Given the description of an element on the screen output the (x, y) to click on. 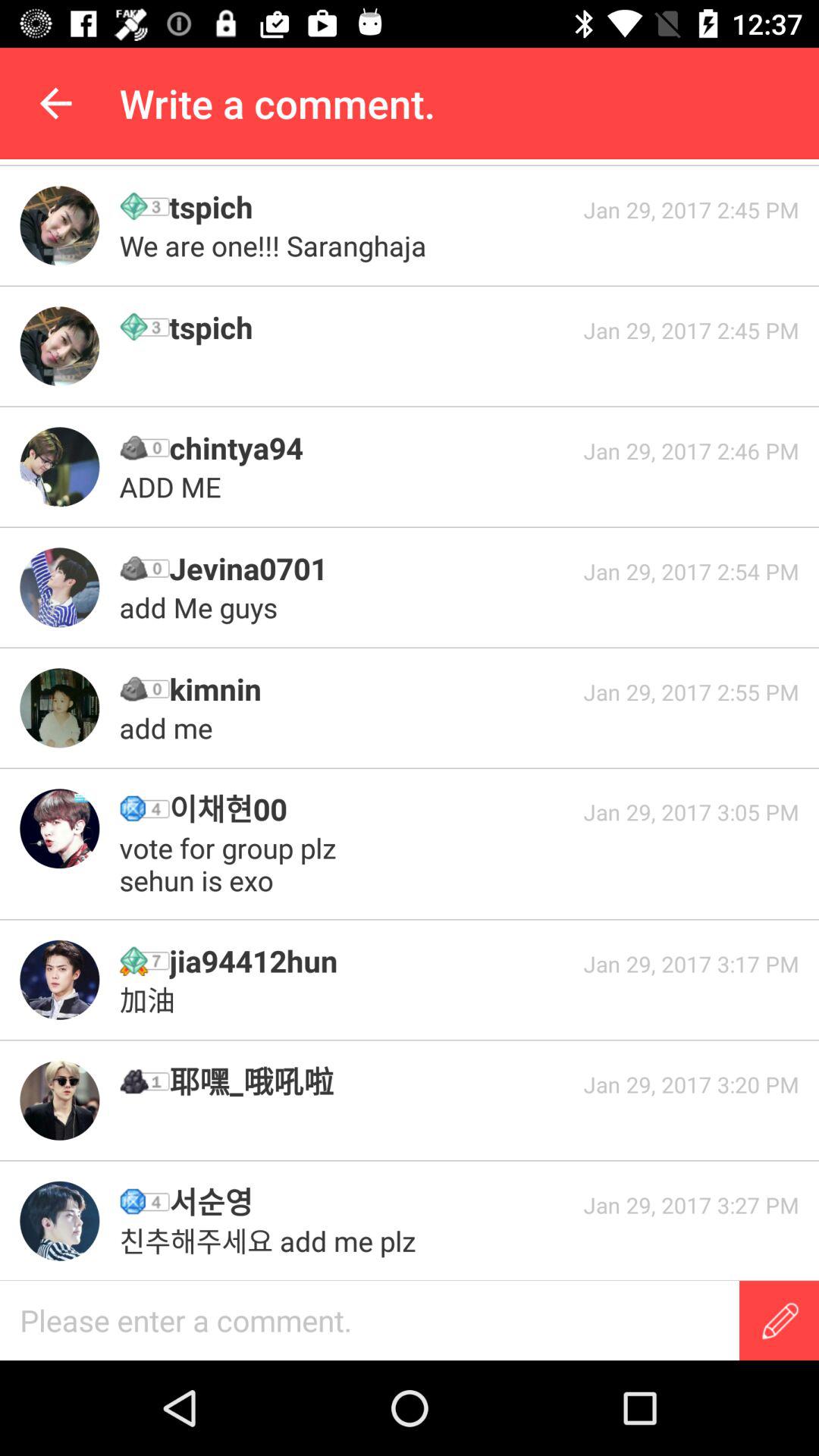
view profile of user (59, 587)
